Given the description of an element on the screen output the (x, y) to click on. 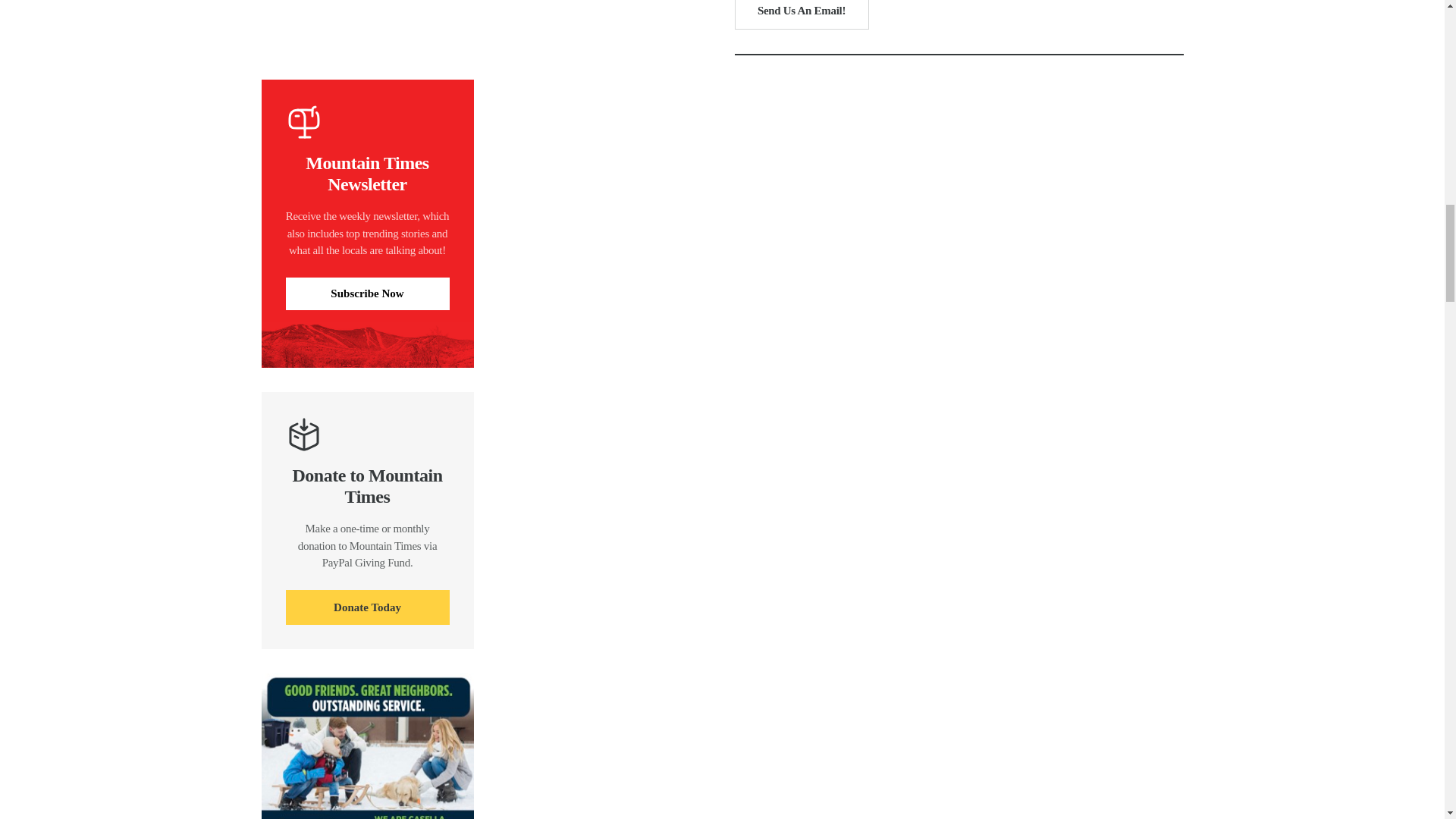
Send Us An Email! (800, 14)
Donate Today (366, 607)
Subscribe Now (366, 293)
